Given the description of an element on the screen output the (x, y) to click on. 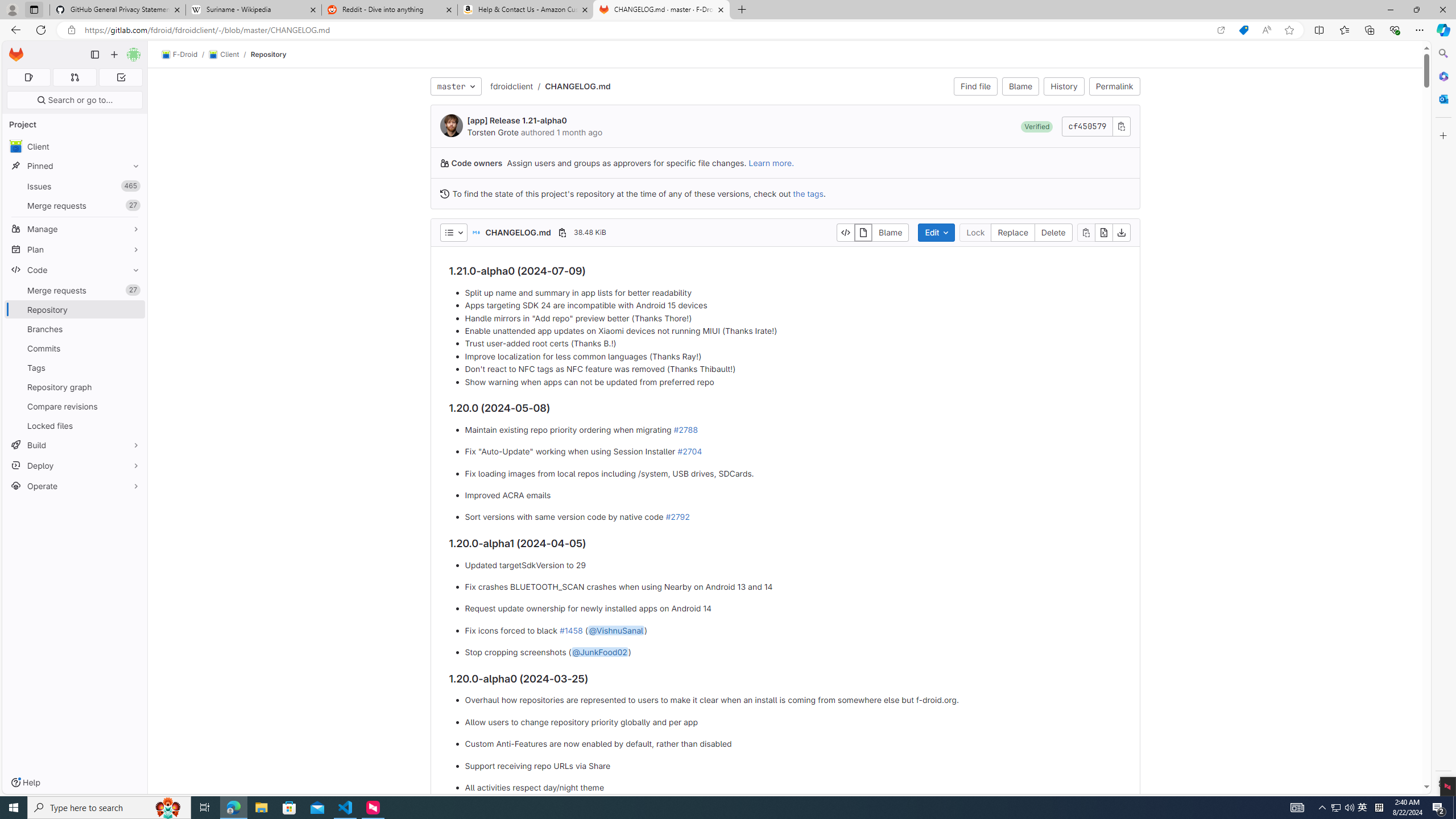
F-Droid/ (185, 54)
Display source (846, 232)
Client/ (229, 54)
Compare revisions (74, 406)
Copy commit SHA (1121, 126)
@JunkFood02 (599, 652)
Help (25, 782)
avatar Client (74, 145)
Find file (975, 85)
fdroidclient (510, 85)
